Given the description of an element on the screen output the (x, y) to click on. 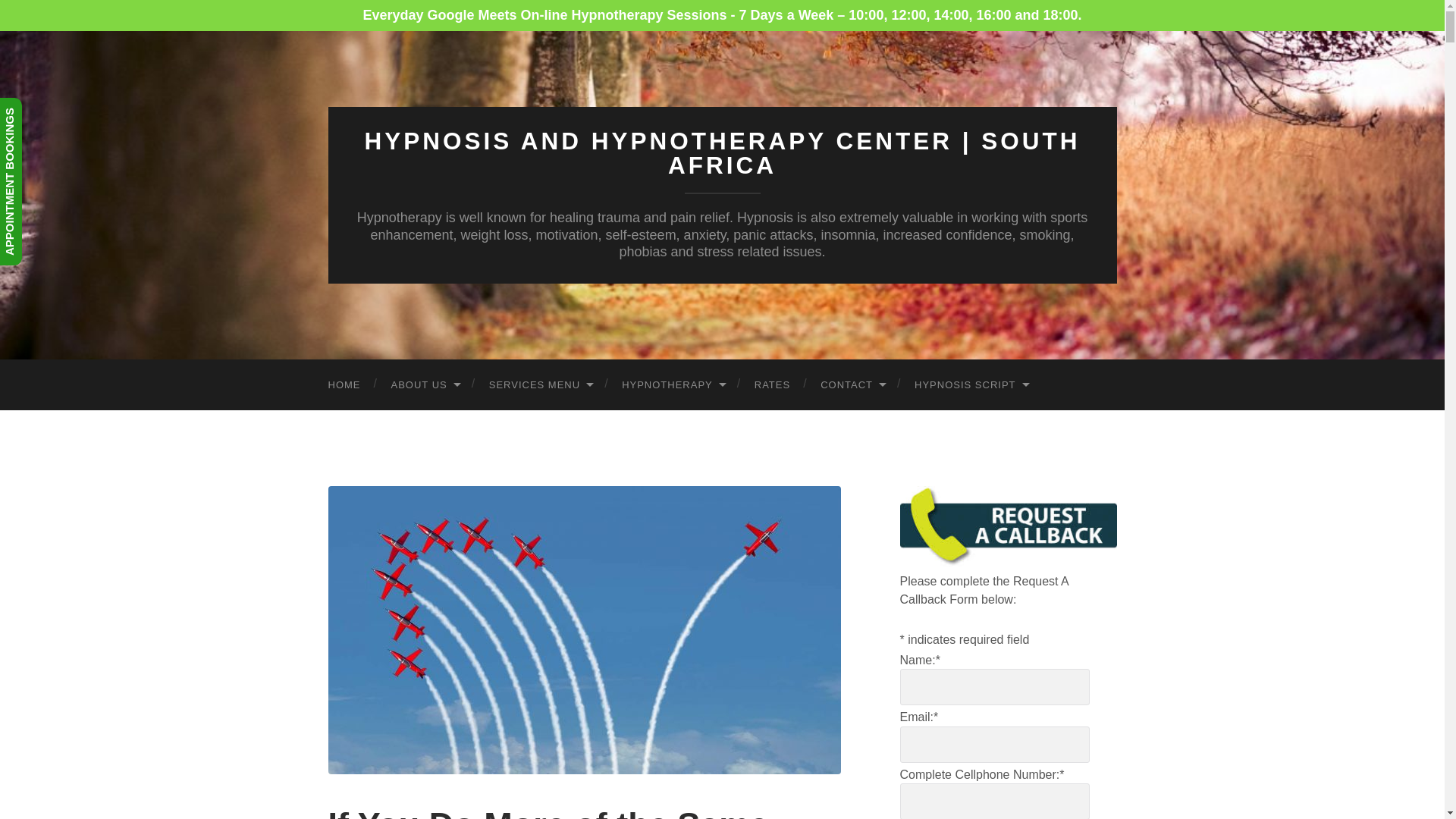
ABOUT US (424, 384)
SERVICES MENU (540, 384)
HOME (344, 384)
HYPNOTHERAPY (673, 384)
